Given the description of an element on the screen output the (x, y) to click on. 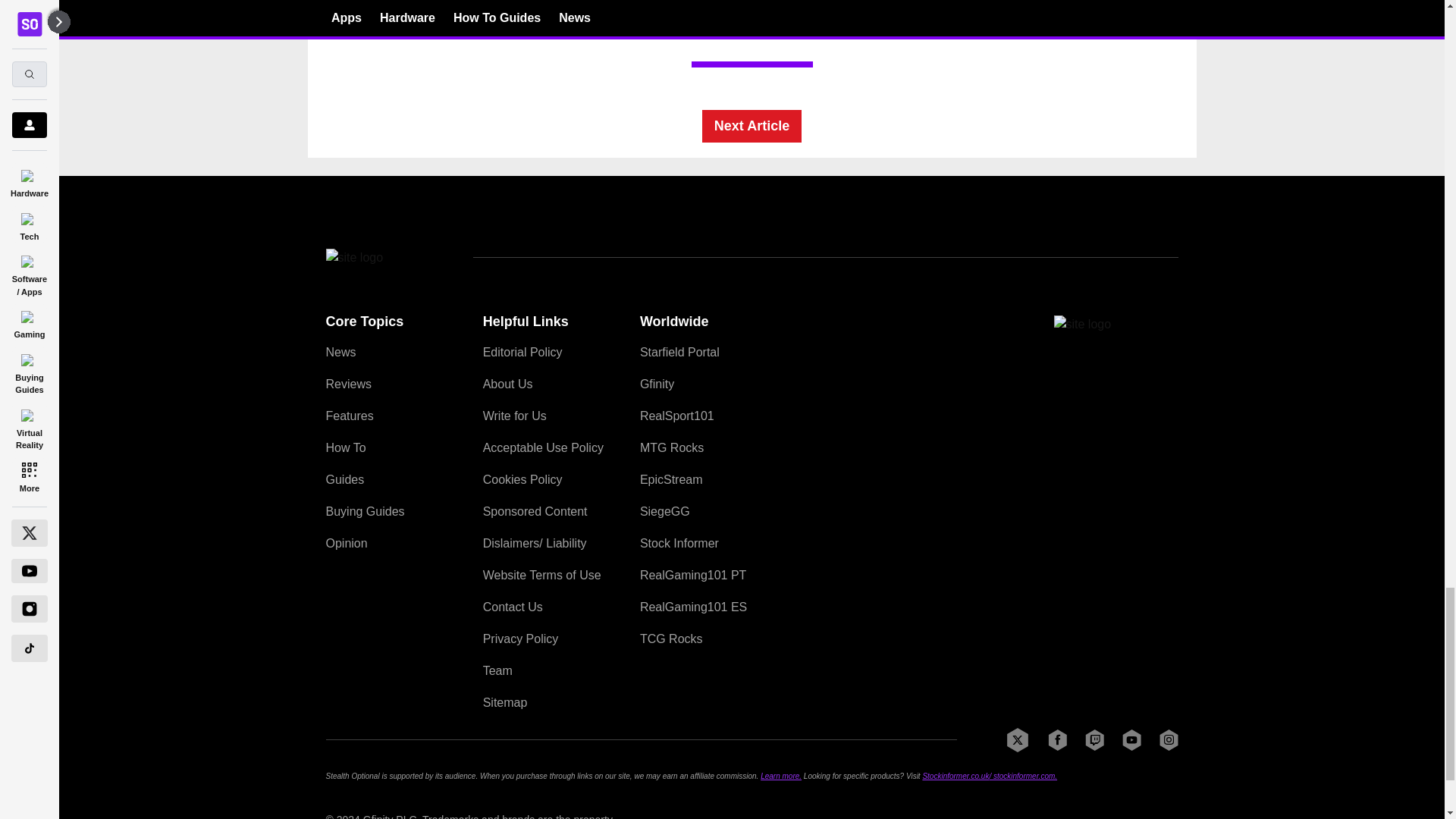
Latest News (1063, 18)
